Given the description of an element on the screen output the (x, y) to click on. 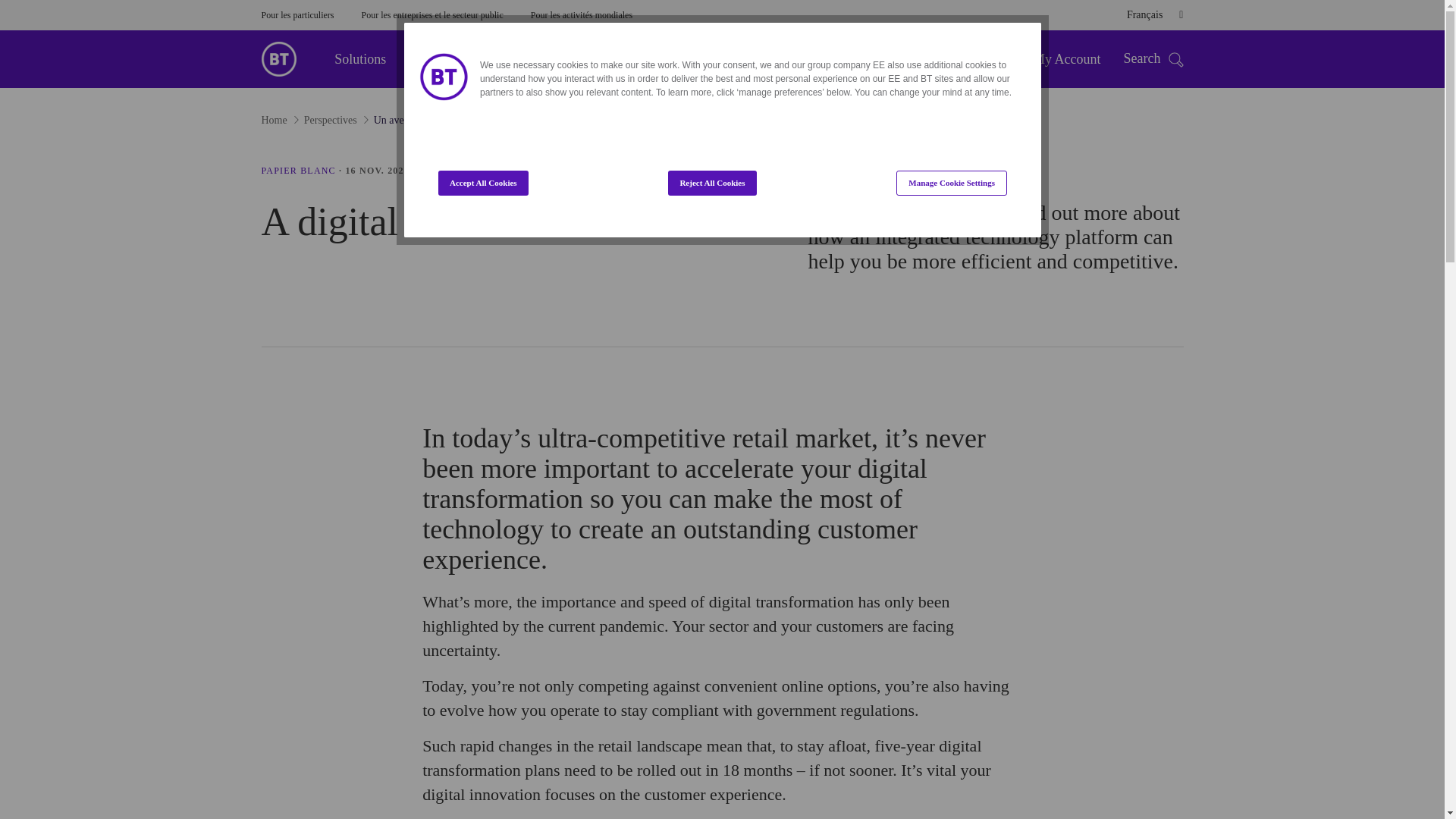
My Account (1066, 58)
Solutions (359, 58)
Livres blancs (297, 170)
Perspectives (450, 58)
Qui sommes-nous (564, 58)
Pour les entreprises et le secteur public (431, 15)
Pour les particuliers (296, 15)
